Given the description of an element on the screen output the (x, y) to click on. 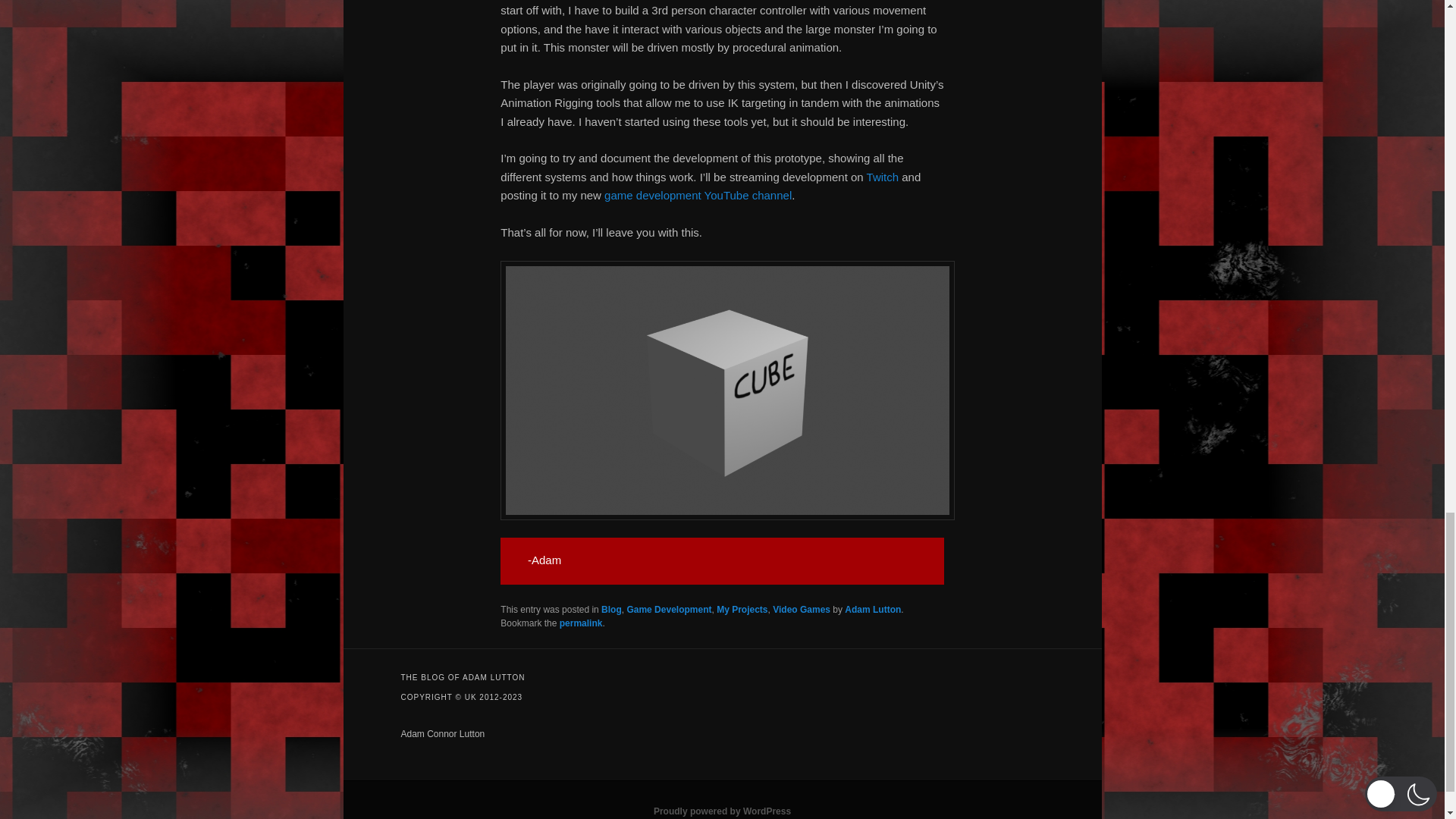
Semantic Personal Publishing Platform (721, 810)
